Given the description of an element on the screen output the (x, y) to click on. 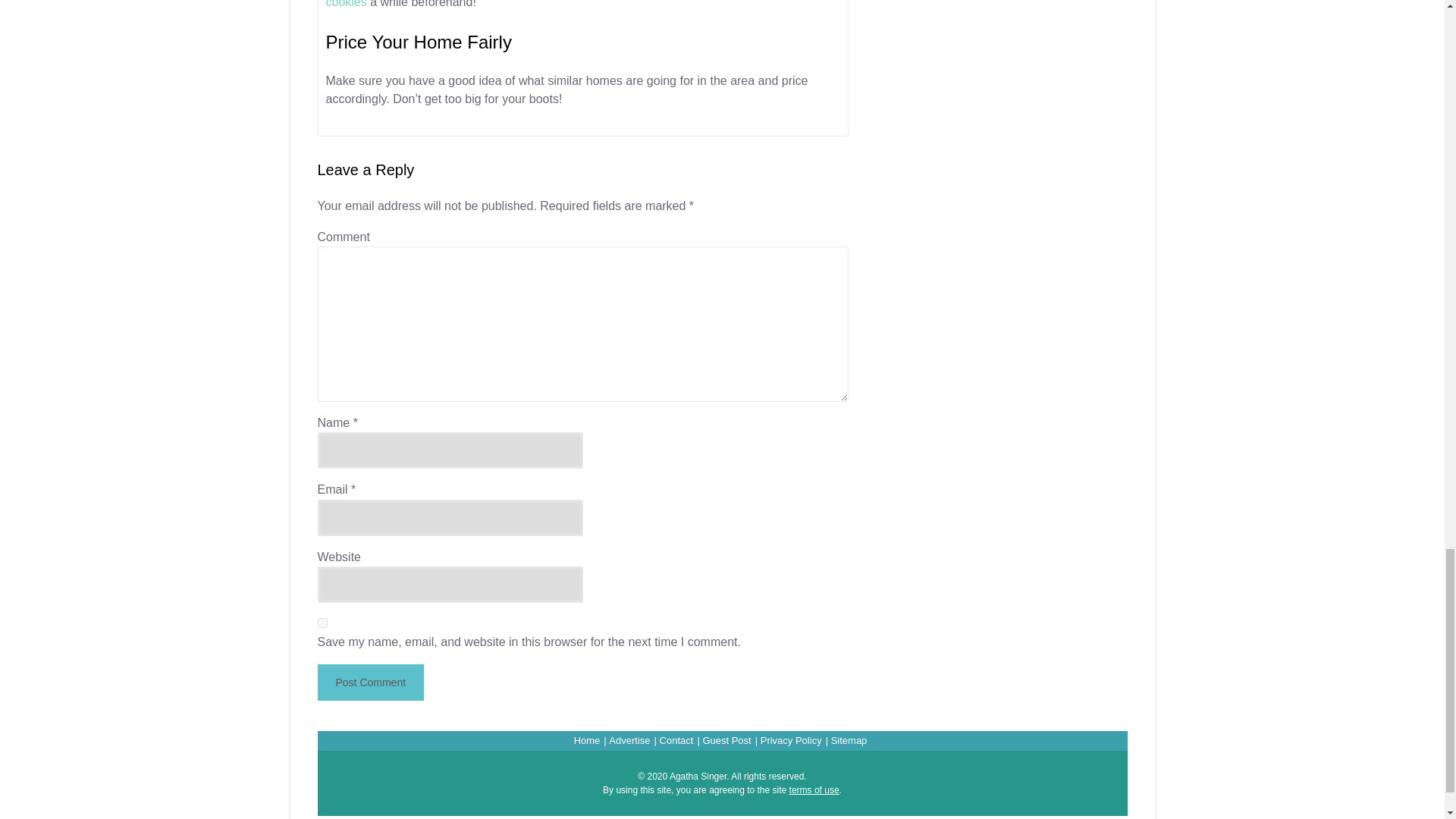
yes (321, 623)
Post Comment (370, 682)
